Given the description of an element on the screen output the (x, y) to click on. 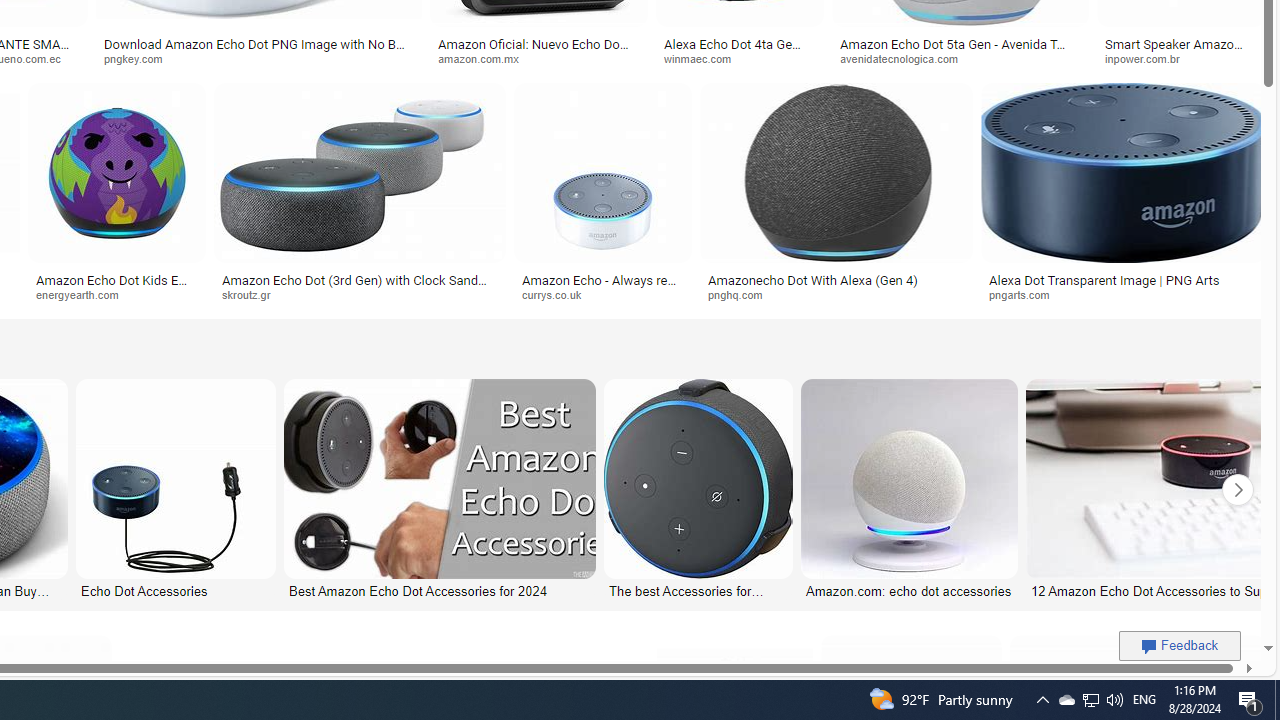
Alexa Dot Transparent Image | PNG Arts (1104, 279)
Amazonecho Dot With Alexa (Gen 4) (812, 279)
energyearth.com (116, 295)
winmaec.com (740, 58)
Amazon Echo Dot Kids Edition - 5th Generation (117, 286)
Echo Dot Accessories Echo Dot Accessories (175, 489)
